Given the description of an element on the screen output the (x, y) to click on. 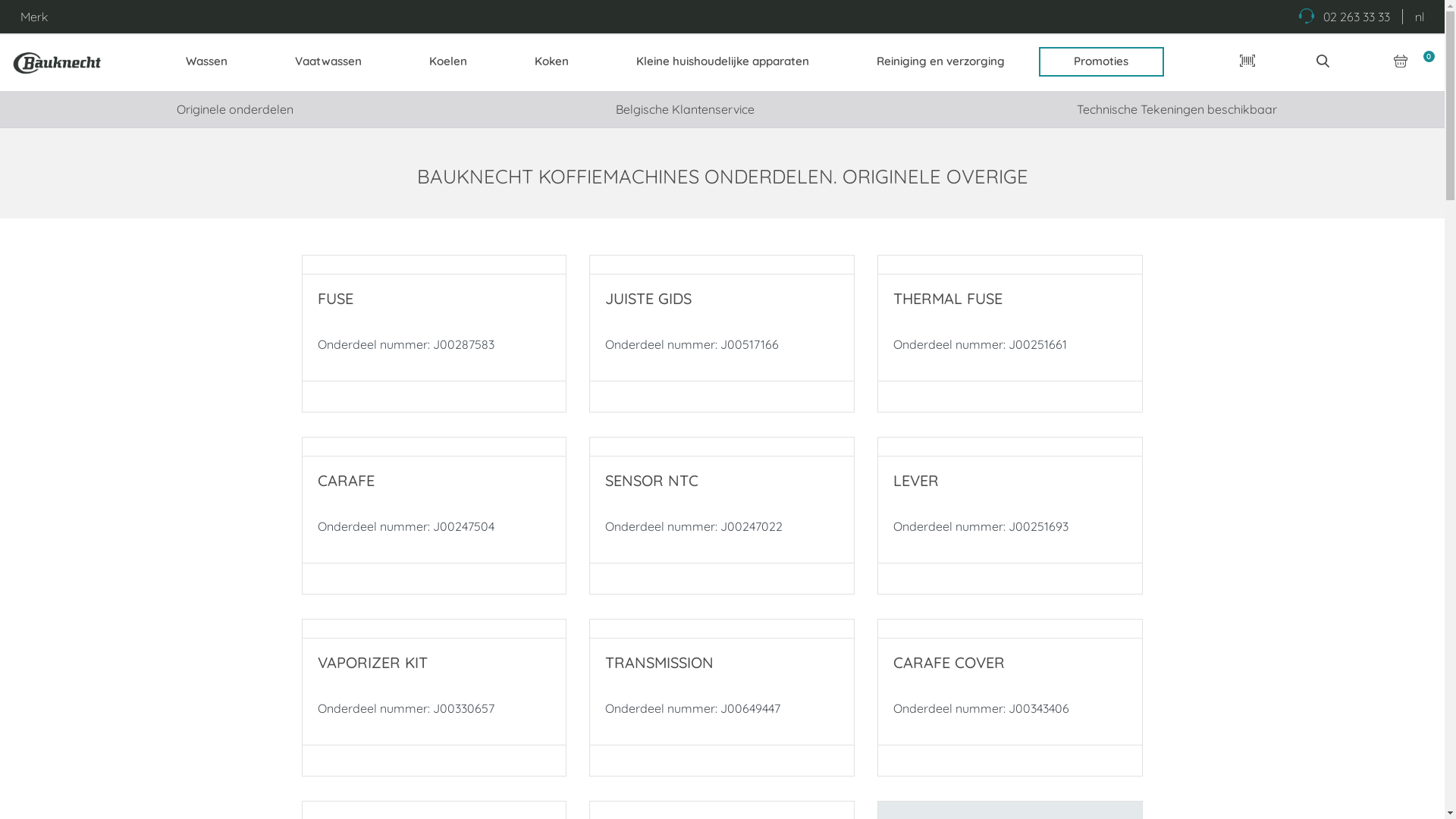
JUISTE GIDS Element type: text (648, 297)
Bauknecht Element type: hover (57, 62)
Merk Element type: text (33, 16)
Promoties Element type: text (1101, 61)
Reiniging en verzorging Element type: text (940, 61)
02 263 33 33 Element type: text (1344, 16)
Vaatwassen Element type: text (327, 61)
nl Element type: text (1419, 16)
TRANSMISSION Element type: text (659, 661)
VAPORIZER KIT Element type: text (371, 661)
SENSOR NTC Element type: text (651, 479)
0 Element type: text (1400, 60)
LEVER Element type: text (915, 479)
Wassen Element type: text (205, 61)
CARAFE Element type: text (344, 479)
Kleine huishoudelijke apparaten Element type: text (722, 61)
FUSE Element type: text (334, 297)
THERMAL FUSE Element type: text (947, 297)
Koken Element type: text (551, 61)
Koelen Element type: text (447, 61)
CARAFE COVER Element type: text (948, 661)
